Given the description of an element on the screen output the (x, y) to click on. 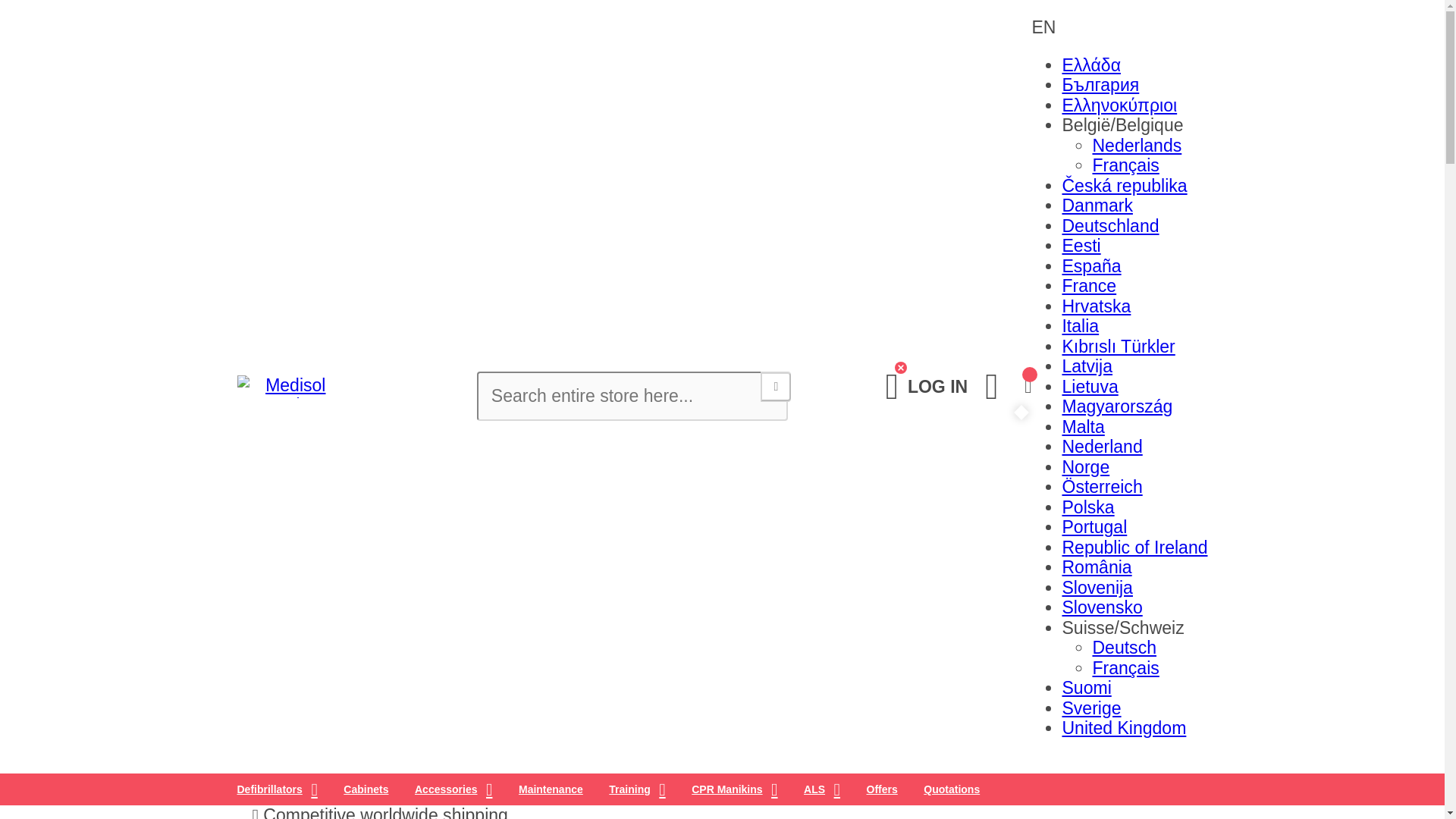
Search (775, 386)
Suomi (1085, 687)
Norge (1085, 466)
Nederland (1101, 446)
Medisol International (279, 386)
Defibrillators (277, 789)
Latvija (1086, 365)
Sverige (1091, 708)
France (1088, 285)
Portugal (1093, 526)
